Given the description of an element on the screen output the (x, y) to click on. 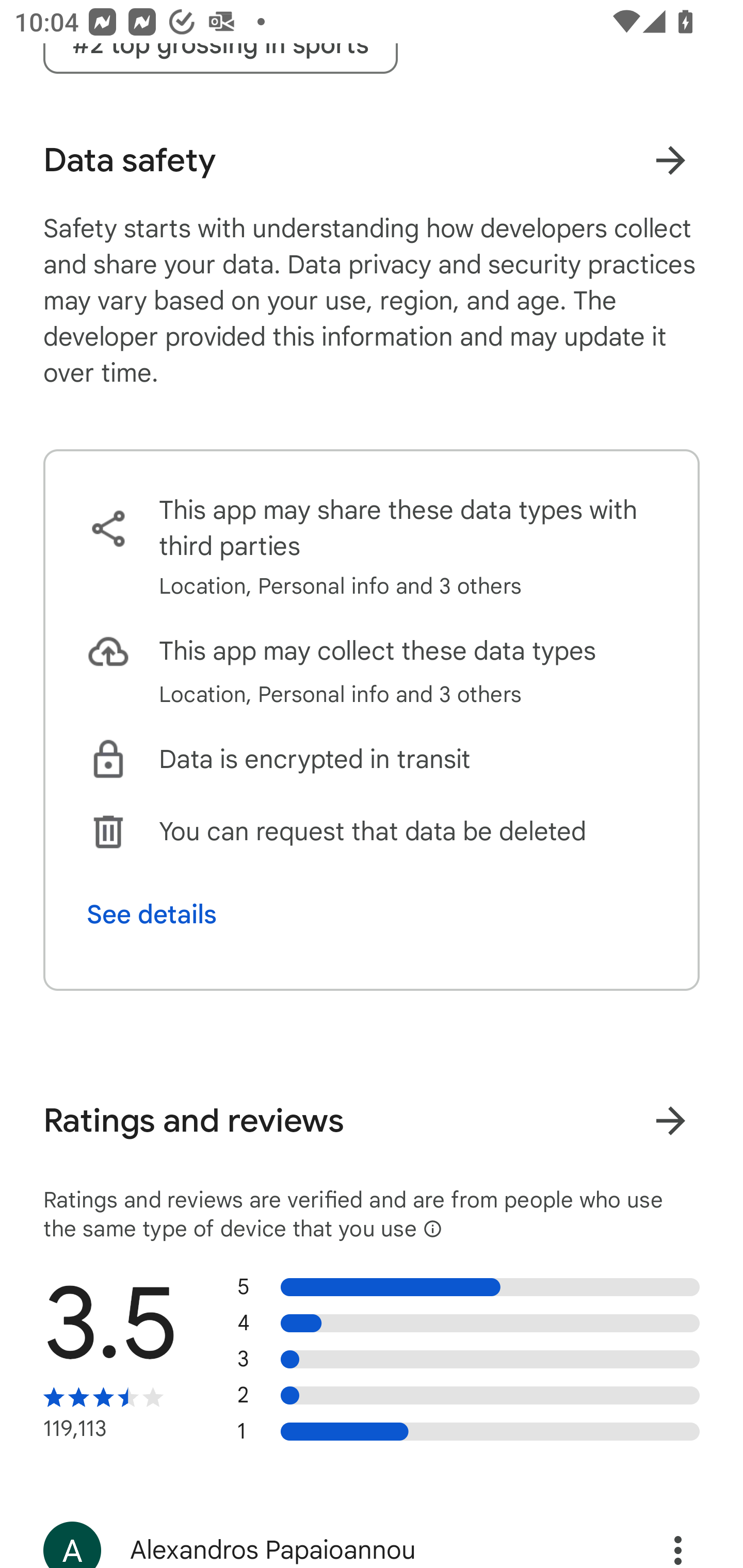
Data safety Learn more about data safety (371, 160)
Learn more about data safety (670, 160)
See details (151, 914)
Ratings and reviews View all ratings and reviews (371, 1120)
View all ratings and reviews (670, 1120)
Options (655, 1537)
